Given the description of an element on the screen output the (x, y) to click on. 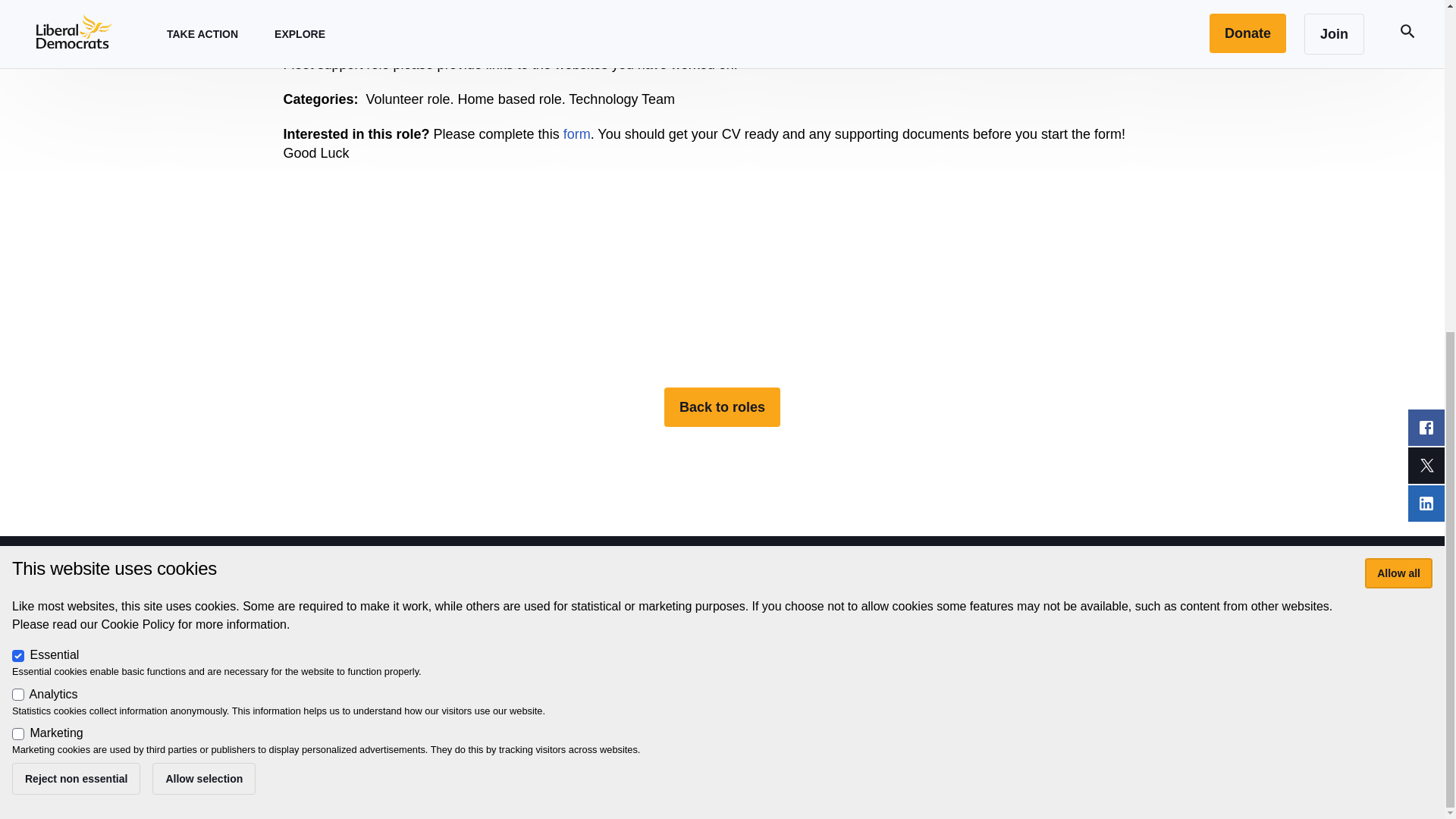
1 (17, 103)
1 (17, 142)
Allow all (1398, 20)
1 (17, 182)
Allow selection (204, 226)
Reject non essential (75, 226)
